Given the description of an element on the screen output the (x, y) to click on. 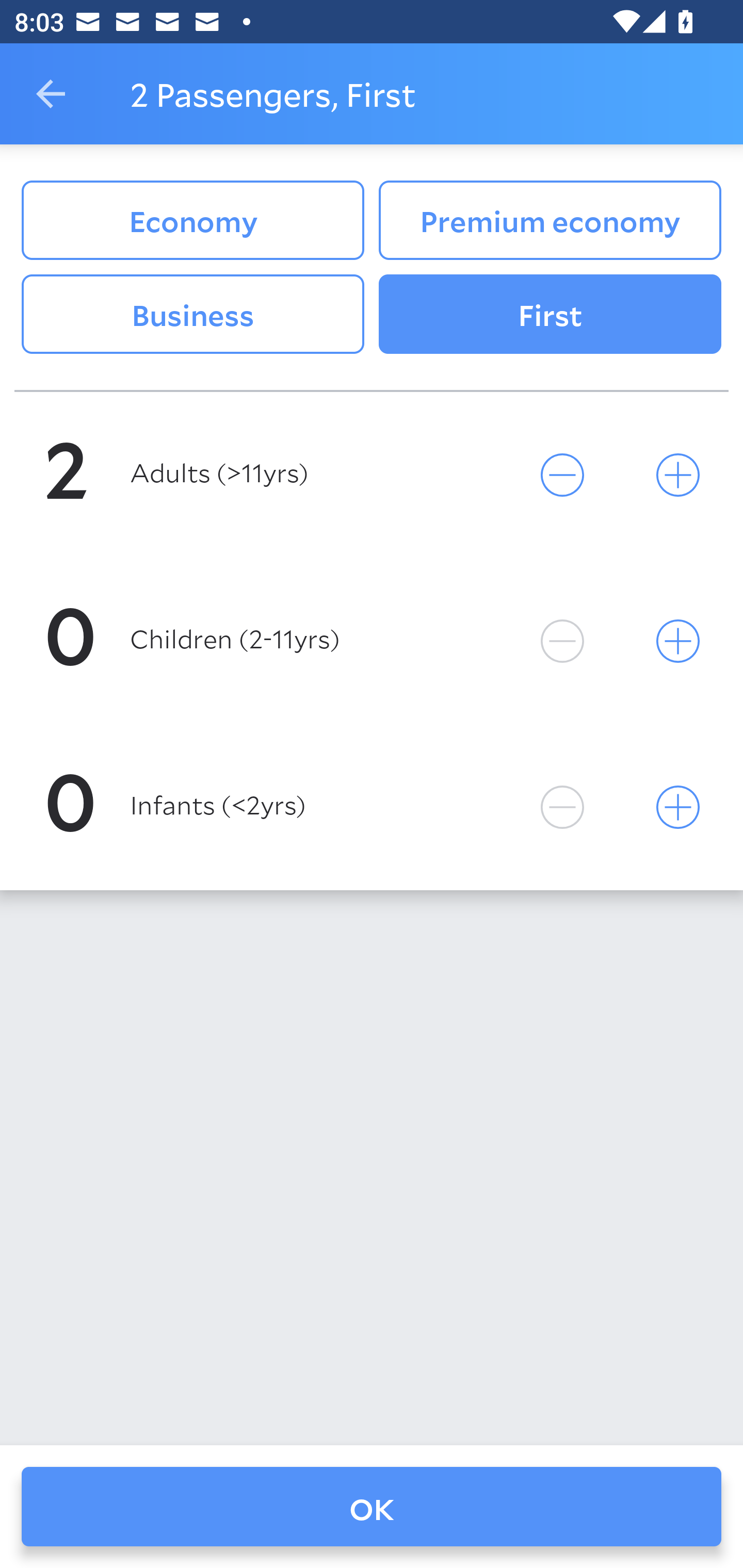
Navigate up (50, 93)
Economy (192, 220)
Premium economy (549, 220)
Business (192, 314)
First (549, 314)
OK (371, 1506)
